Given the description of an element on the screen output the (x, y) to click on. 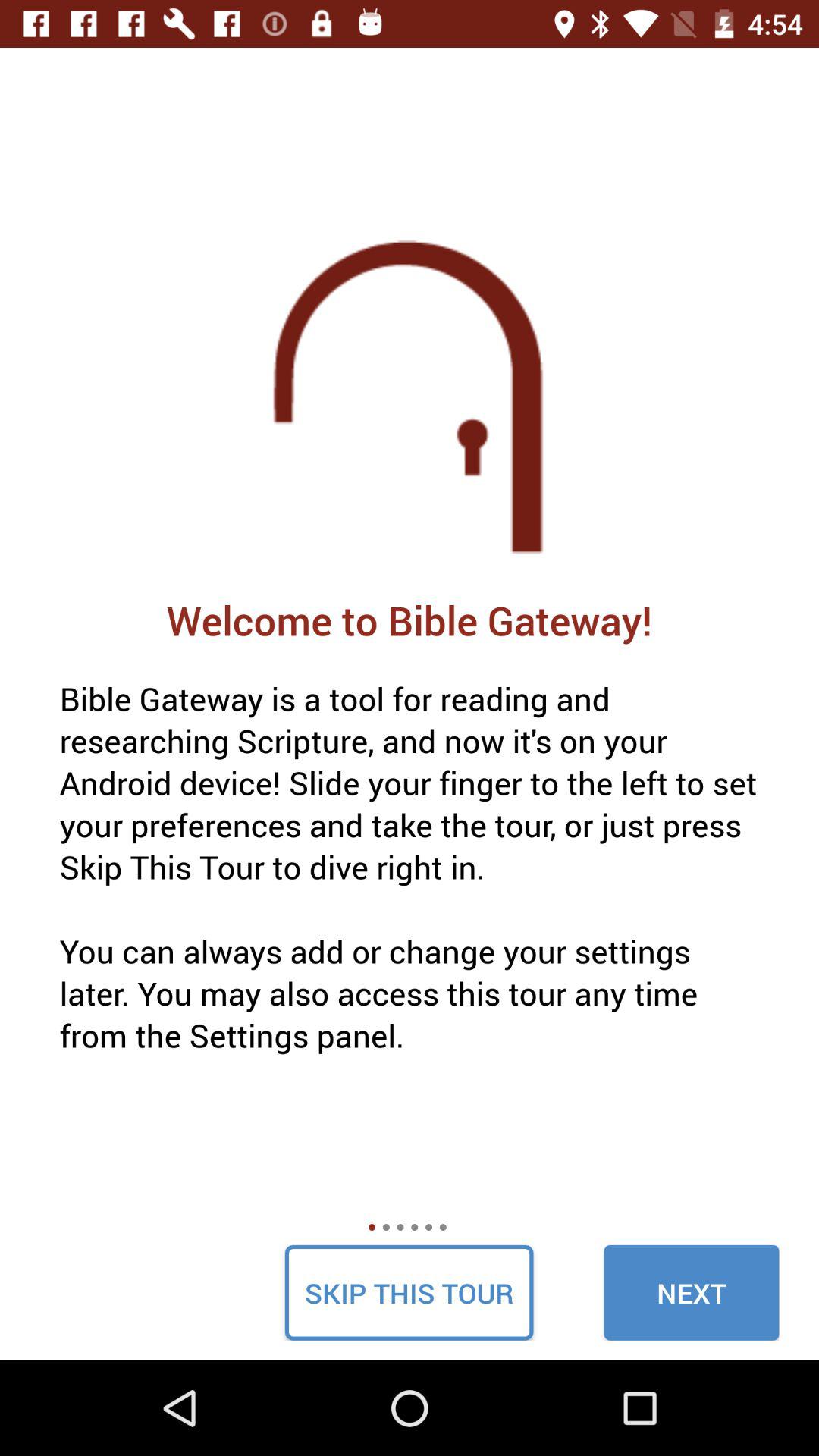
choose next icon (691, 1292)
